Given the description of an element on the screen output the (x, y) to click on. 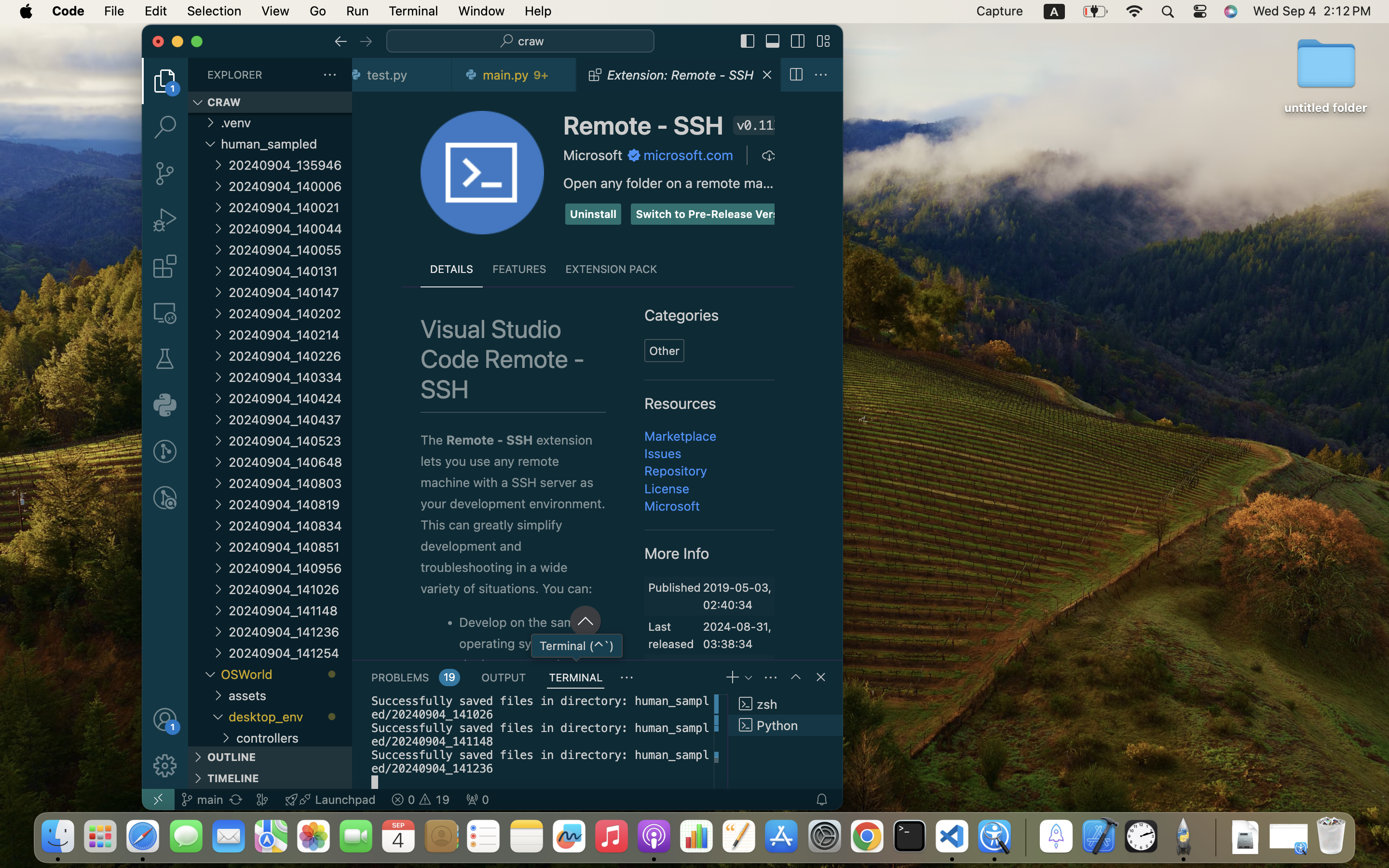
1 TERMINAL Element type: AXRadioButton (575, 676)
20240904_140334 Element type: AXGroup (290, 376)
Resources Element type: AXStaticText (680, 403)
20240904_140021 Element type: AXGroup (290, 206)
20240904_140214 Element type: AXGroup (290, 334)
